Given the description of an element on the screen output the (x, y) to click on. 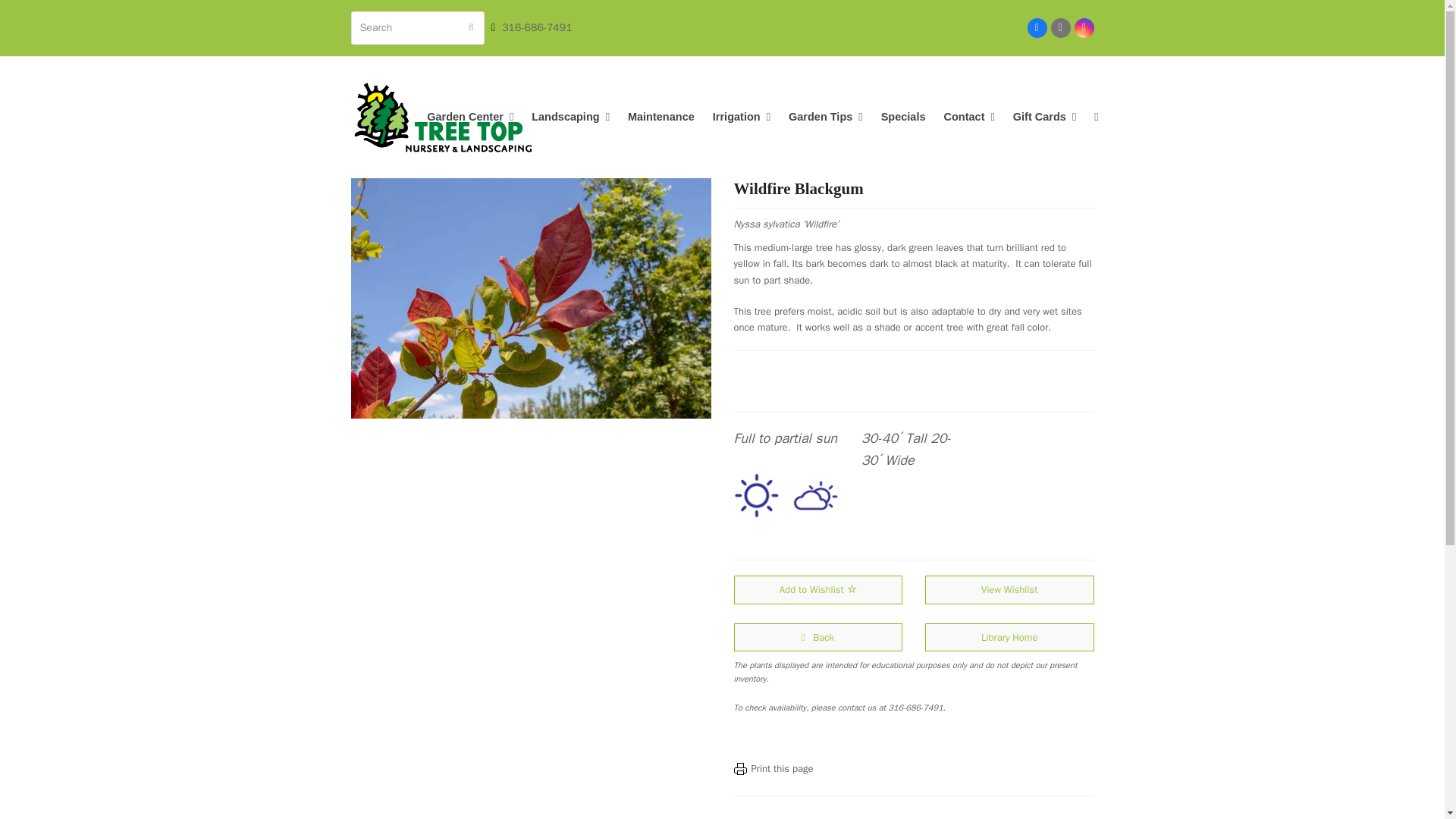
Facebook (1036, 27)
Instagram (1083, 27)
Garden Tips (826, 117)
Print this page (739, 768)
Irrigation (741, 117)
Landscaping (570, 117)
Maintenance (660, 117)
Gift Cards (1044, 117)
Specials (903, 117)
Email (1060, 27)
Contact (968, 117)
Print this page (781, 768)
Garden Center (469, 117)
